Given the description of an element on the screen output the (x, y) to click on. 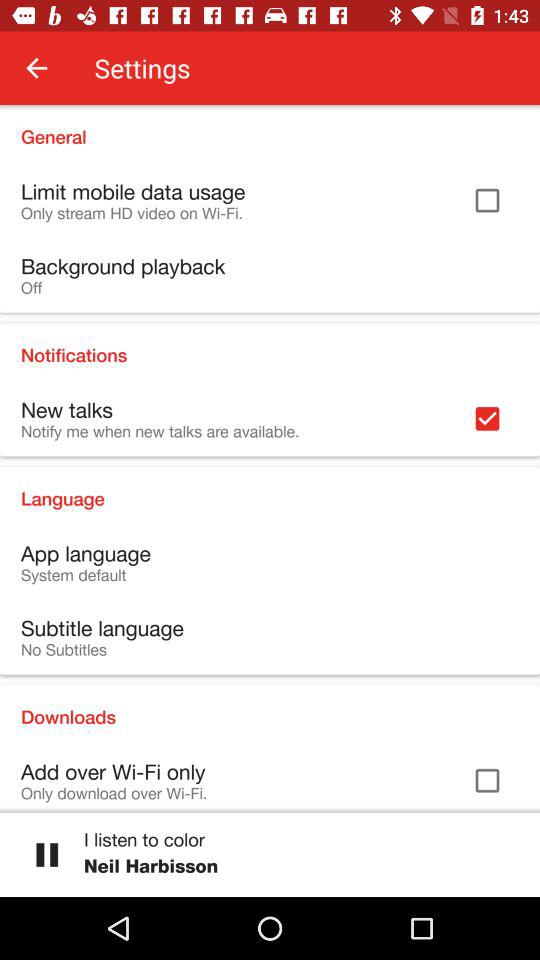
tap item above general icon (36, 68)
